Given the description of an element on the screen output the (x, y) to click on. 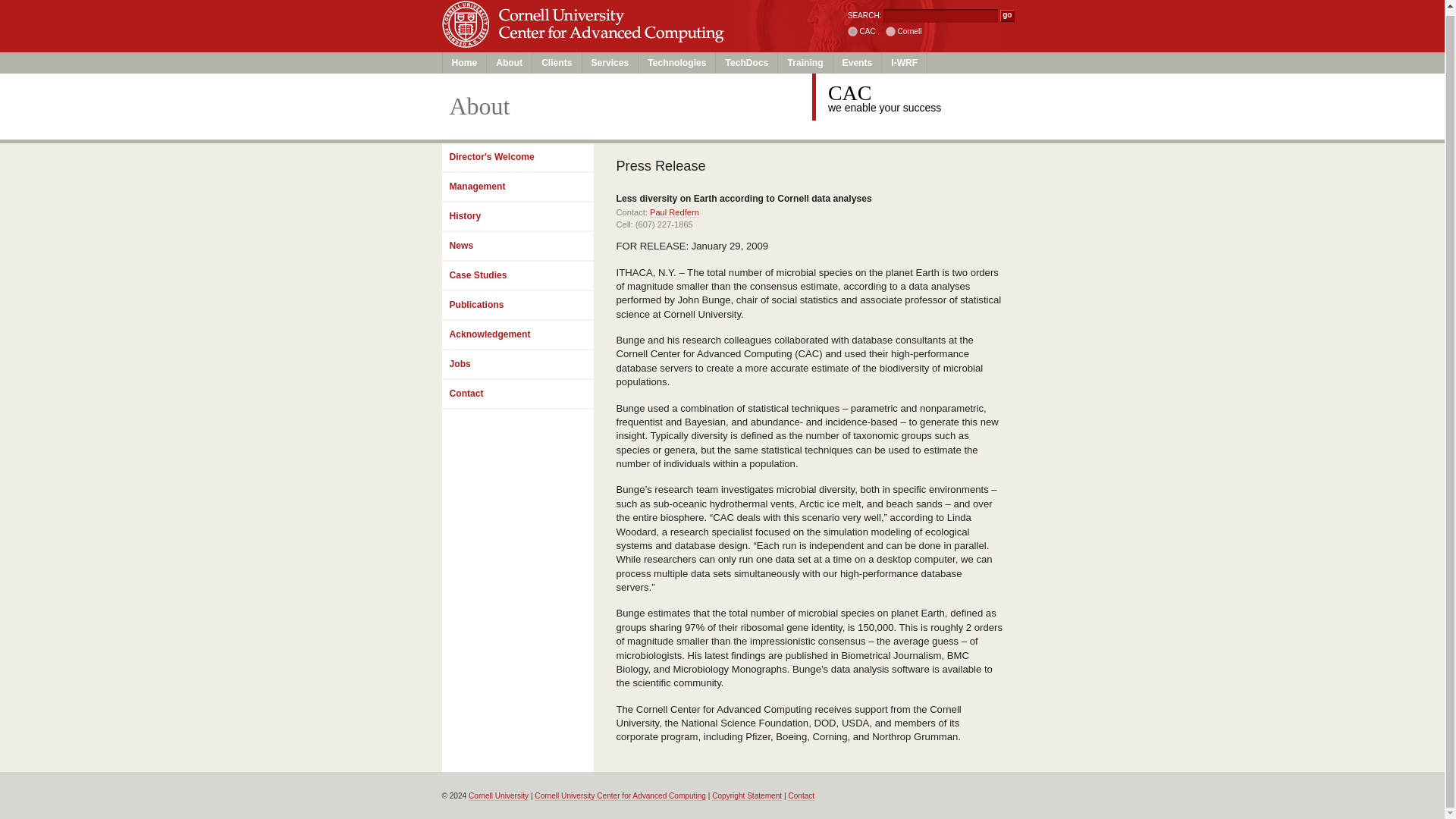
History (516, 216)
Home (464, 62)
Cornell University (579, 12)
Paul Redfern (673, 212)
Acknowledgement (516, 335)
Technologies (677, 62)
Case Studies (516, 276)
Copyright Statement (746, 795)
Cornell University Center for Advanced Computing (620, 795)
News (516, 246)
Events (857, 62)
Jobs (516, 365)
Cornell University (498, 795)
Services (610, 62)
go (1006, 15)
